Given the description of an element on the screen output the (x, y) to click on. 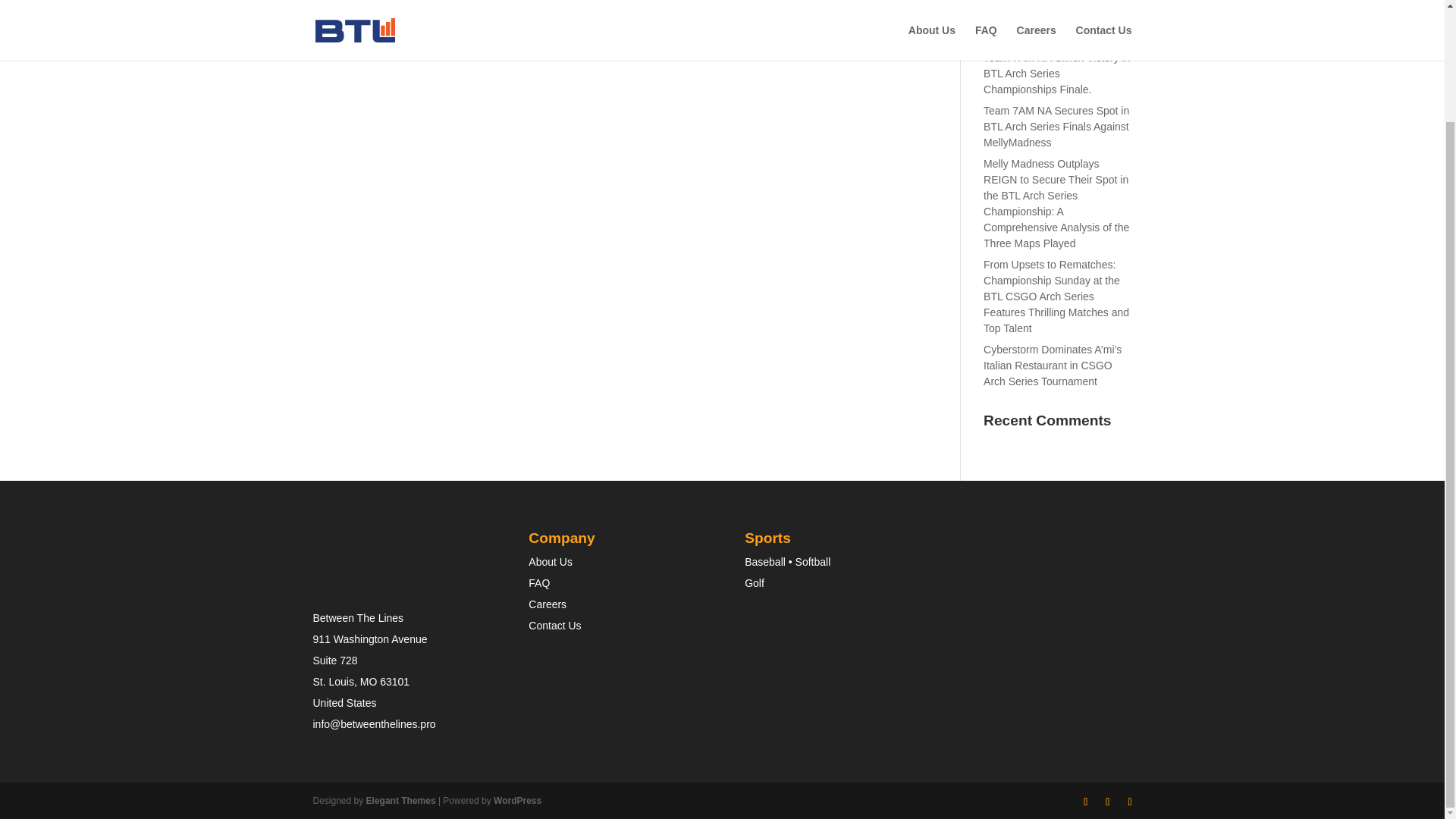
WordPress (517, 800)
Search (1106, 1)
Search (1106, 1)
Contact Us (554, 625)
FAQ (539, 582)
About Us (550, 562)
Premium WordPress Themes (400, 800)
Golf (754, 582)
Elegant Themes (400, 800)
Careers (547, 604)
